Given the description of an element on the screen output the (x, y) to click on. 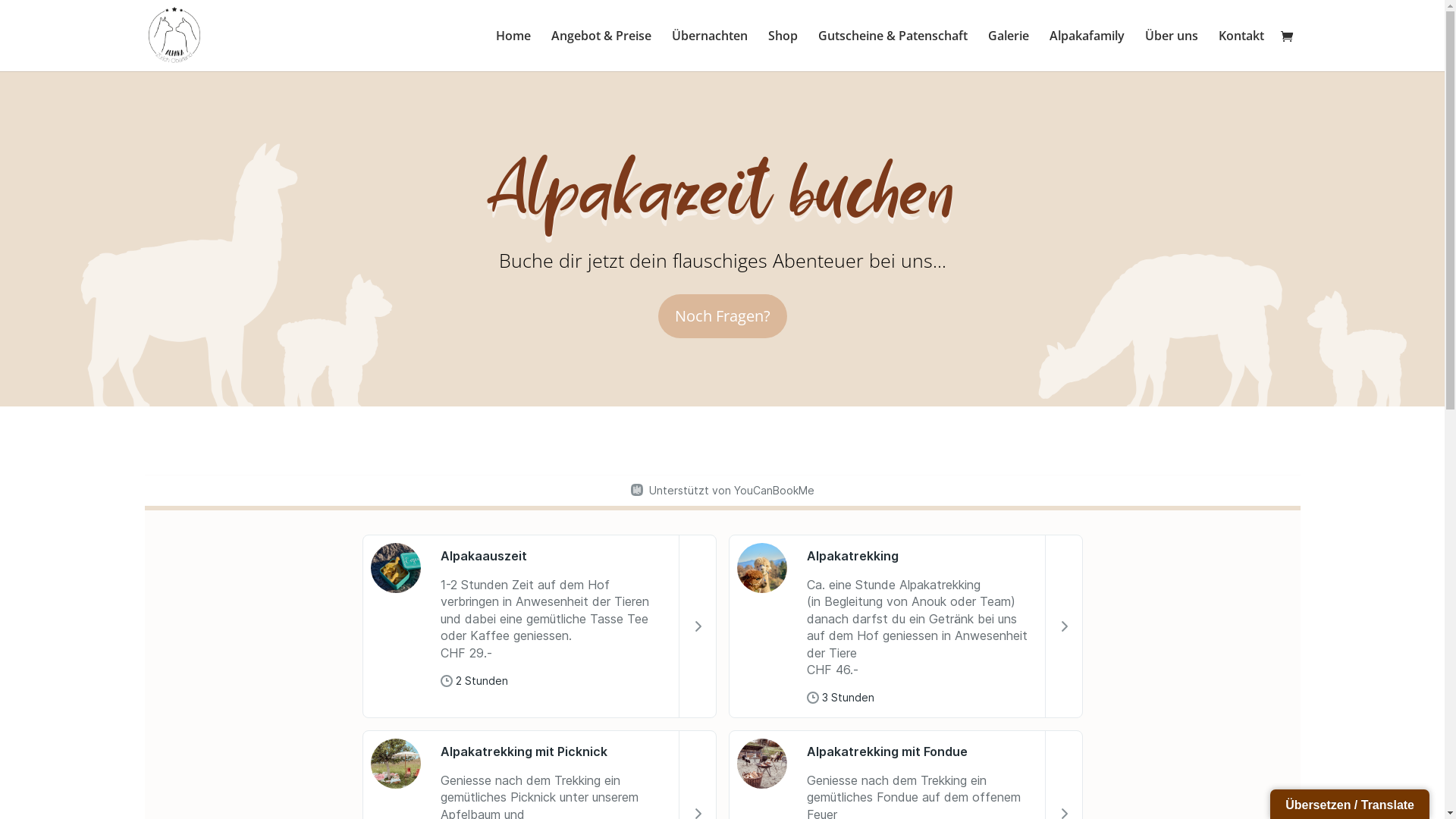
Alpakafamily Element type: text (1086, 50)
Noch Fragen? Element type: text (722, 316)
Galerie Element type: text (1007, 50)
Kontakt Element type: text (1240, 50)
Shop Element type: text (782, 50)
Gutscheine & Patenschaft Element type: text (891, 50)
Angebot & Preise Element type: text (600, 50)
Home Element type: text (512, 50)
